Given the description of an element on the screen output the (x, y) to click on. 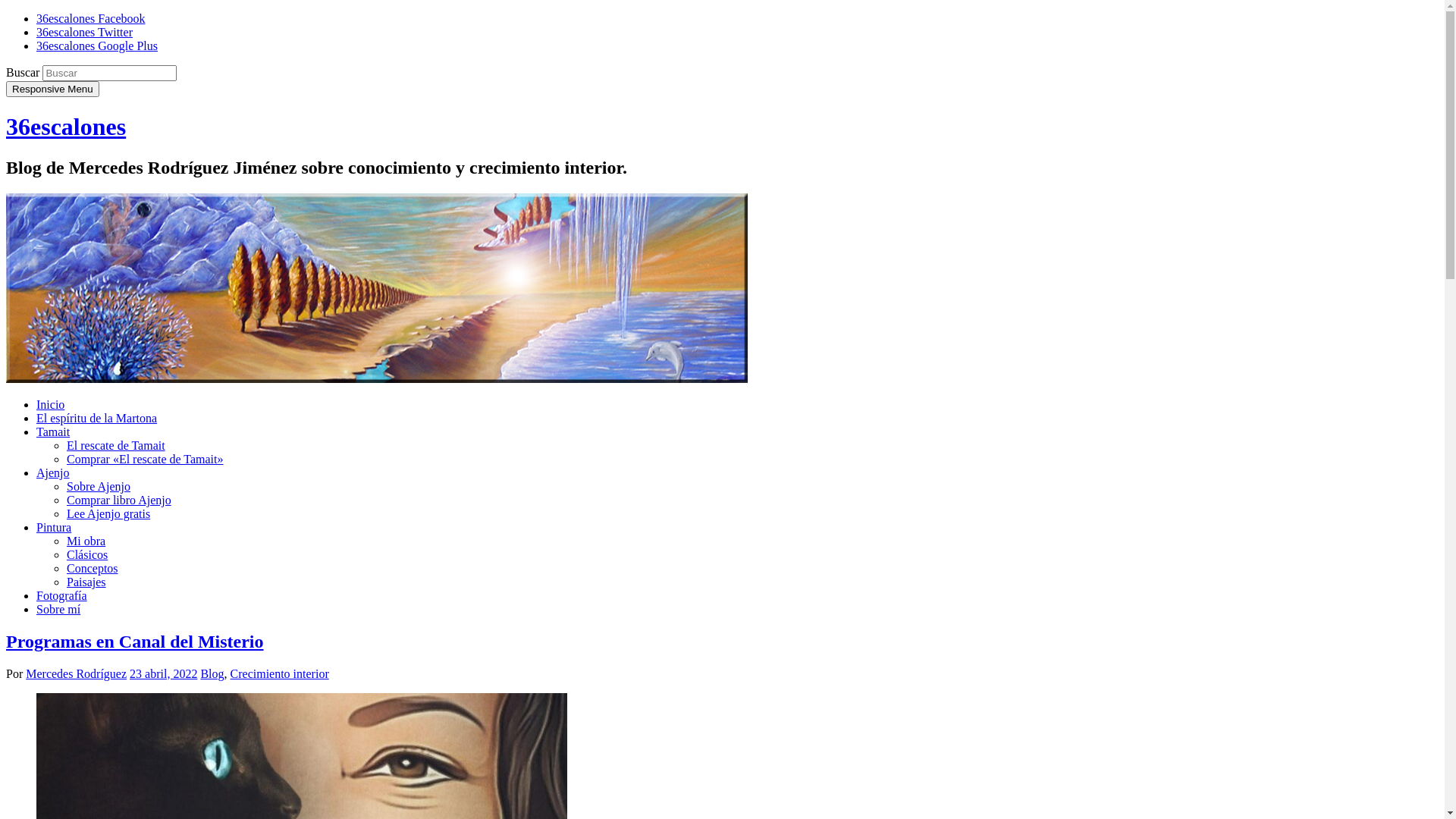
36escalones Element type: hover (376, 378)
Comprar libro Ajenjo Element type: text (118, 499)
Sobre Ajenjo Element type: text (98, 486)
Crecimiento interior Element type: text (279, 673)
36escalones Google Plus Element type: text (96, 45)
Lee Ajenjo gratis Element type: text (108, 513)
36escalones Twitter Element type: text (84, 31)
36escalones Facebook Element type: text (90, 18)
Ajenjo Element type: text (52, 472)
Inicio Element type: text (50, 404)
23 abril, 2022 Element type: text (163, 673)
Mi obra Element type: text (85, 540)
Paisajes Element type: text (86, 581)
Tamait Element type: text (52, 431)
Conceptos Element type: text (92, 567)
El rescate de Tamait Element type: text (115, 445)
Blog Element type: text (211, 673)
Programas en Canal del Misterio Element type: text (134, 641)
Pintura Element type: text (53, 526)
36escalones Element type: text (65, 126)
Responsive Menu Element type: text (52, 89)
